Given the description of an element on the screen output the (x, y) to click on. 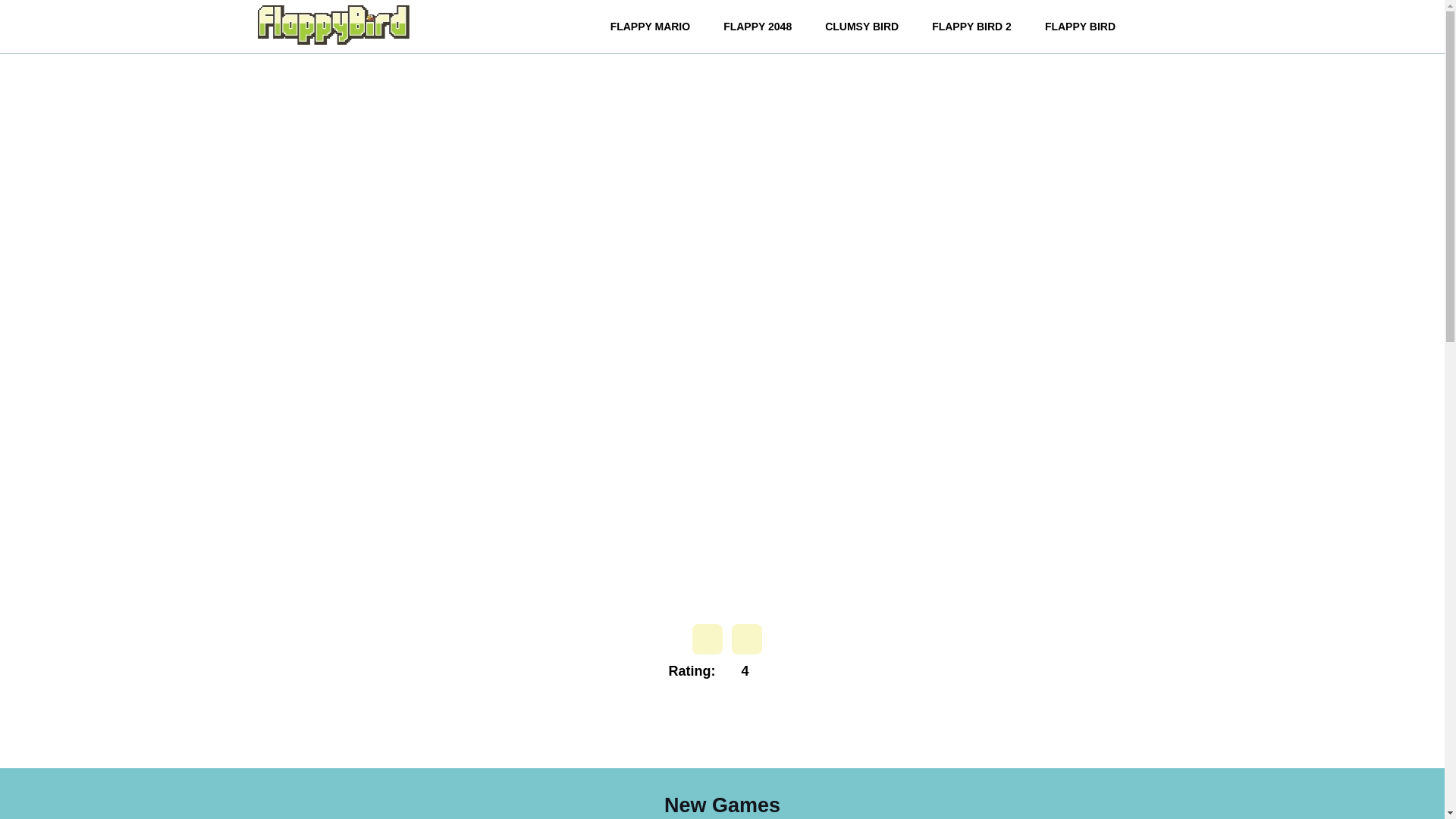
FLAPPY 2048 (757, 25)
CLUMSY BIRD (861, 25)
Flappy Bird (333, 24)
FLAPPY MARIO (650, 25)
New Games (721, 804)
FLAPPY BIRD 2 (971, 25)
FLAPPY BIRD (1079, 25)
